Given the description of an element on the screen output the (x, y) to click on. 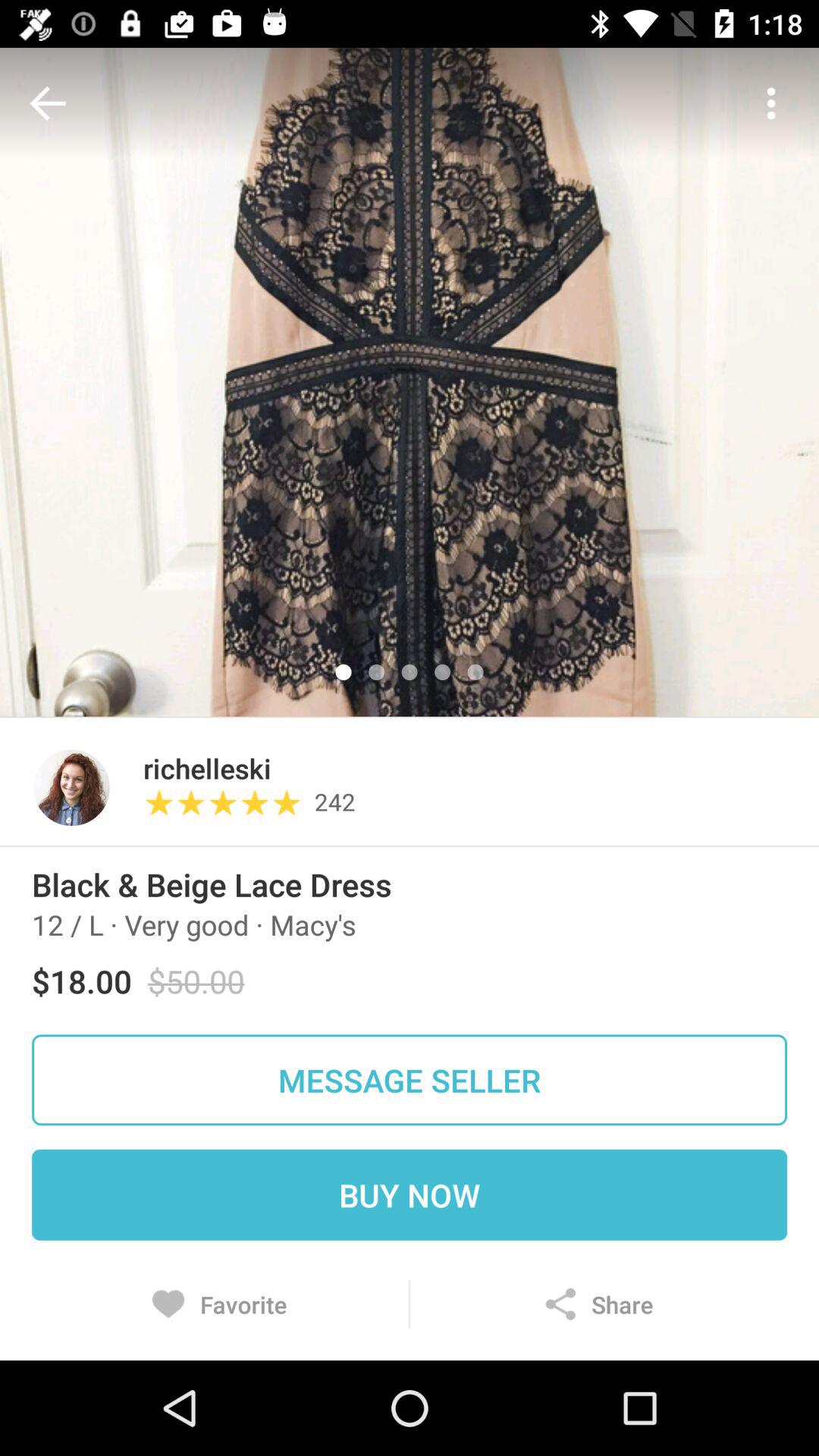
click on more button (771, 103)
select the share option (599, 1303)
select the box below message seller (409, 1195)
select the below the black  beige lace dress (193, 924)
